Given the description of an element on the screen output the (x, y) to click on. 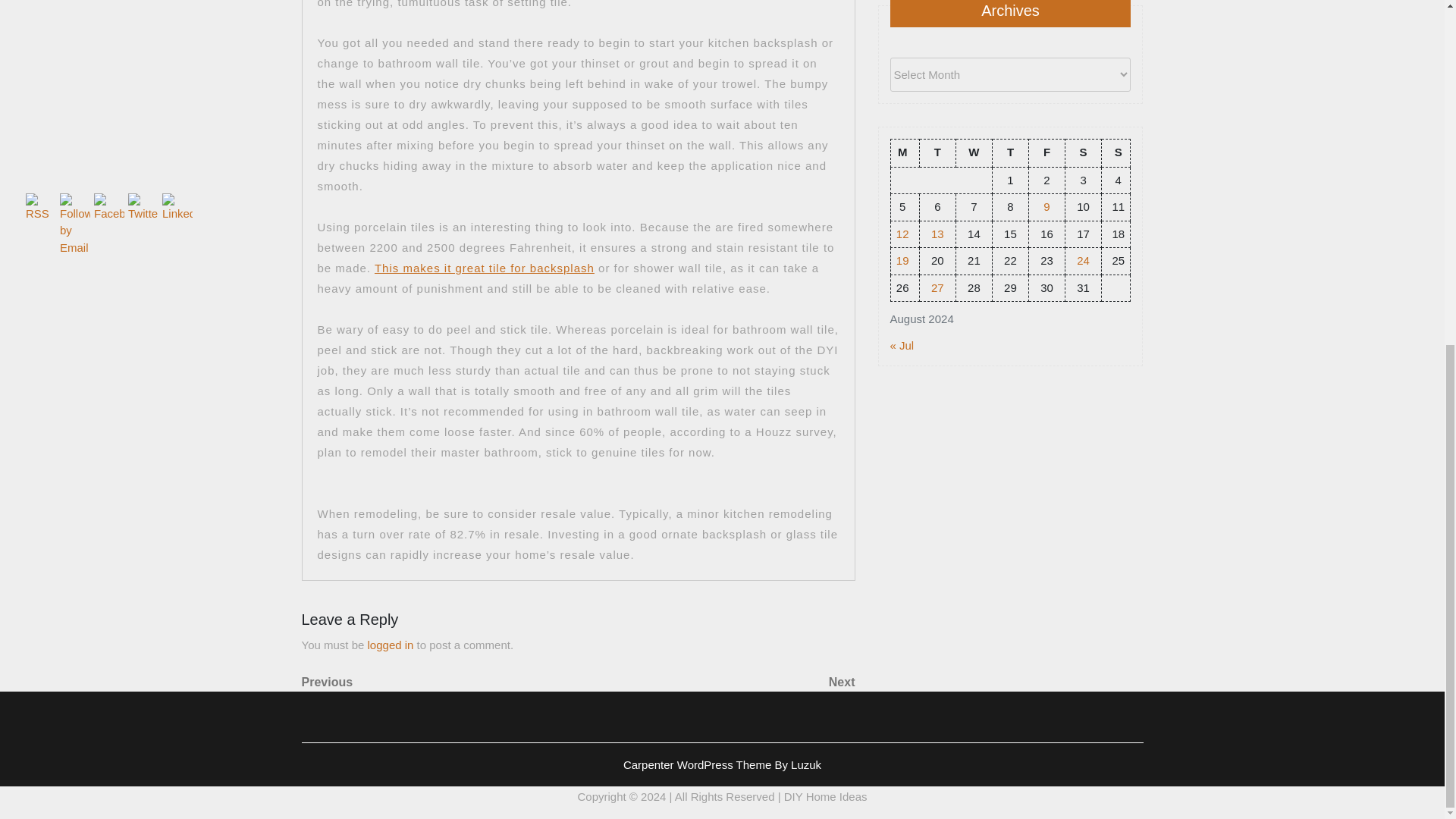
24 (1083, 259)
Wednesday (973, 152)
RSS (41, 206)
Friday (1045, 152)
logged in (390, 644)
27 (937, 286)
13 (937, 233)
Sunday (1116, 152)
Tuesday (936, 152)
